Given the description of an element on the screen output the (x, y) to click on. 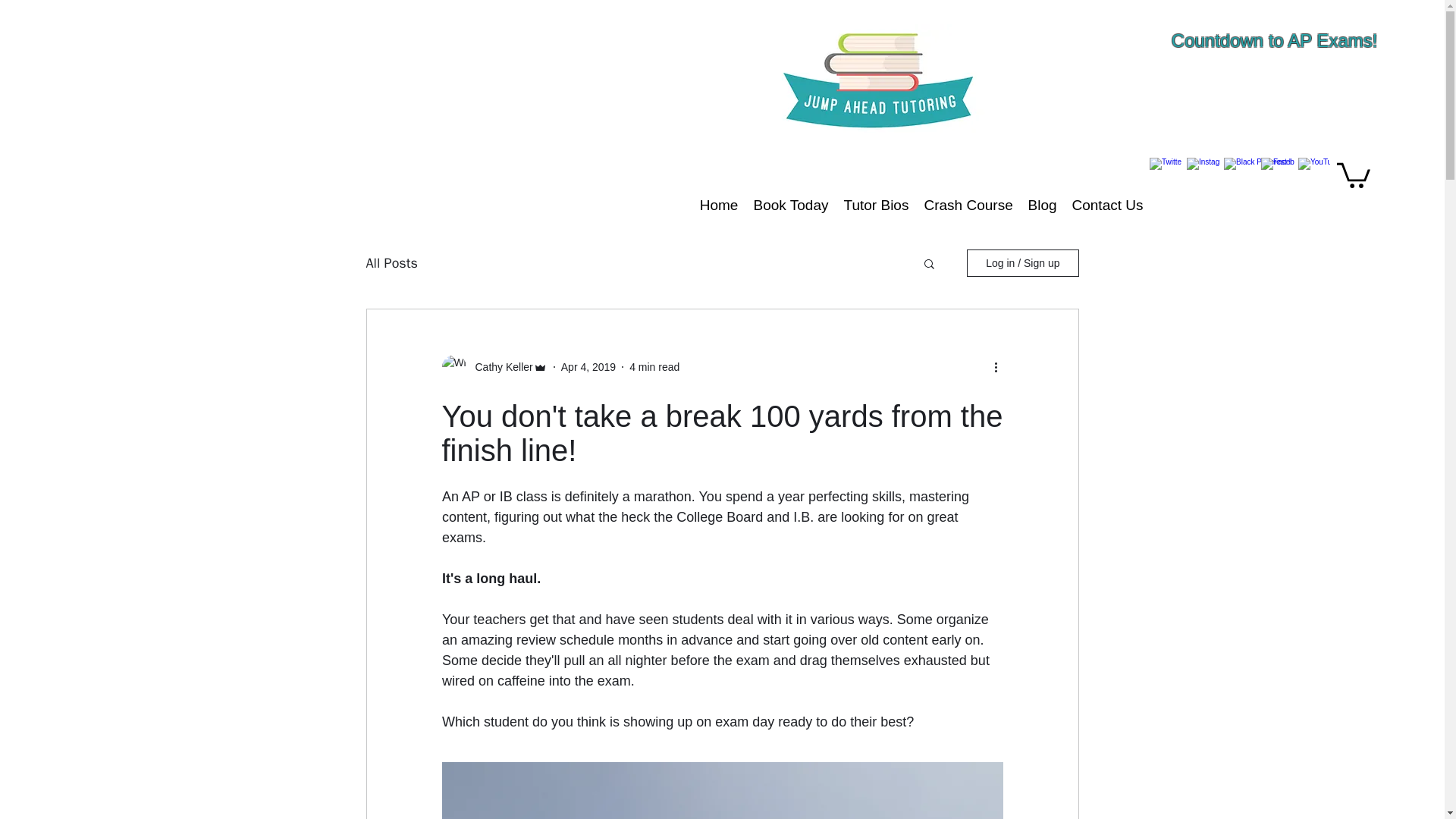
Book Today (790, 205)
Crash Course (967, 205)
Apr 4, 2019 (587, 367)
4 min read (653, 367)
All Posts (390, 262)
Blog (1042, 205)
Tutor Bios (875, 205)
Contact Us (1107, 205)
Cathy Keller (498, 367)
Home (718, 205)
